Given the description of an element on the screen output the (x, y) to click on. 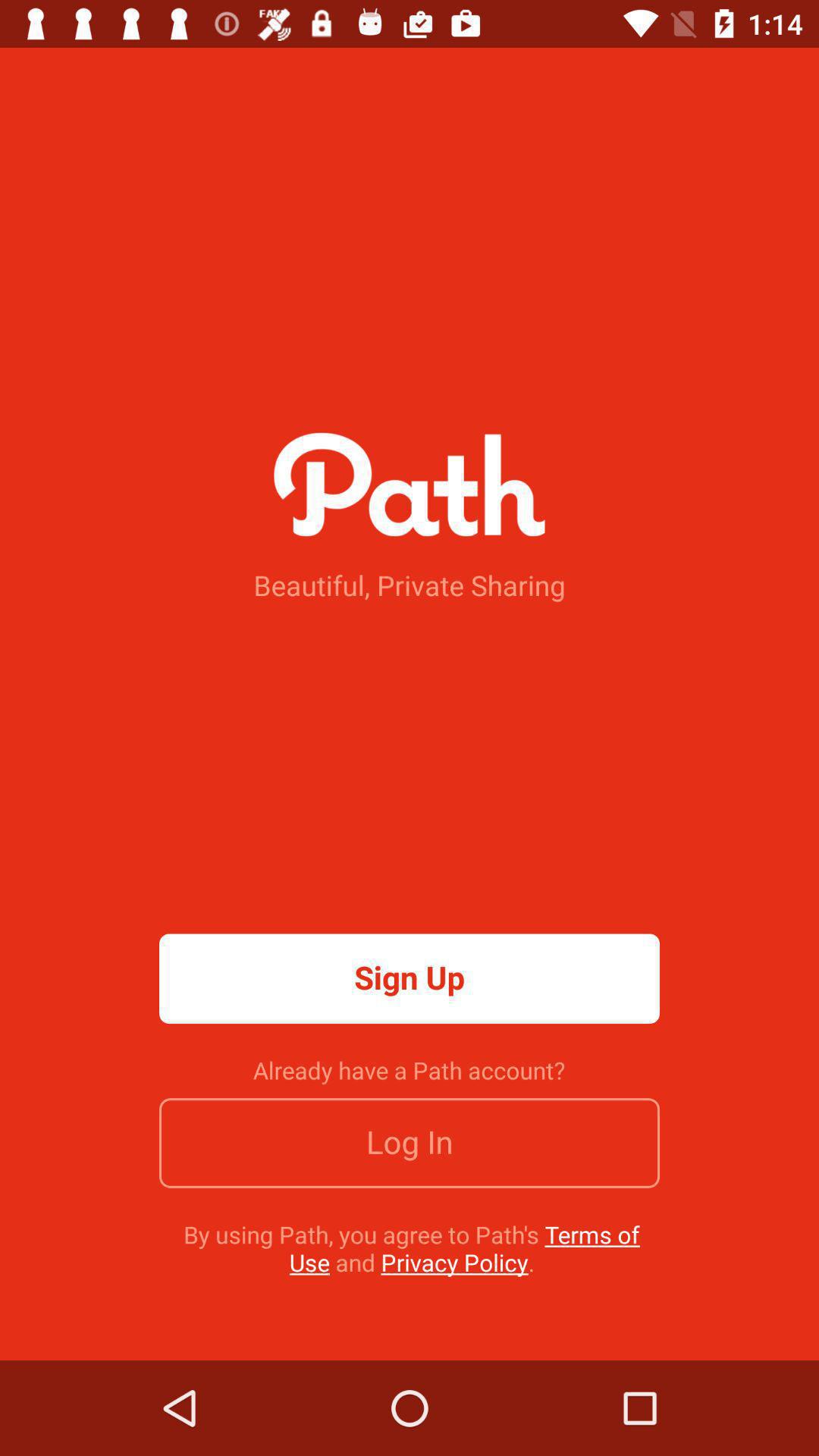
press the icon above the already have a (409, 978)
